Given the description of an element on the screen output the (x, y) to click on. 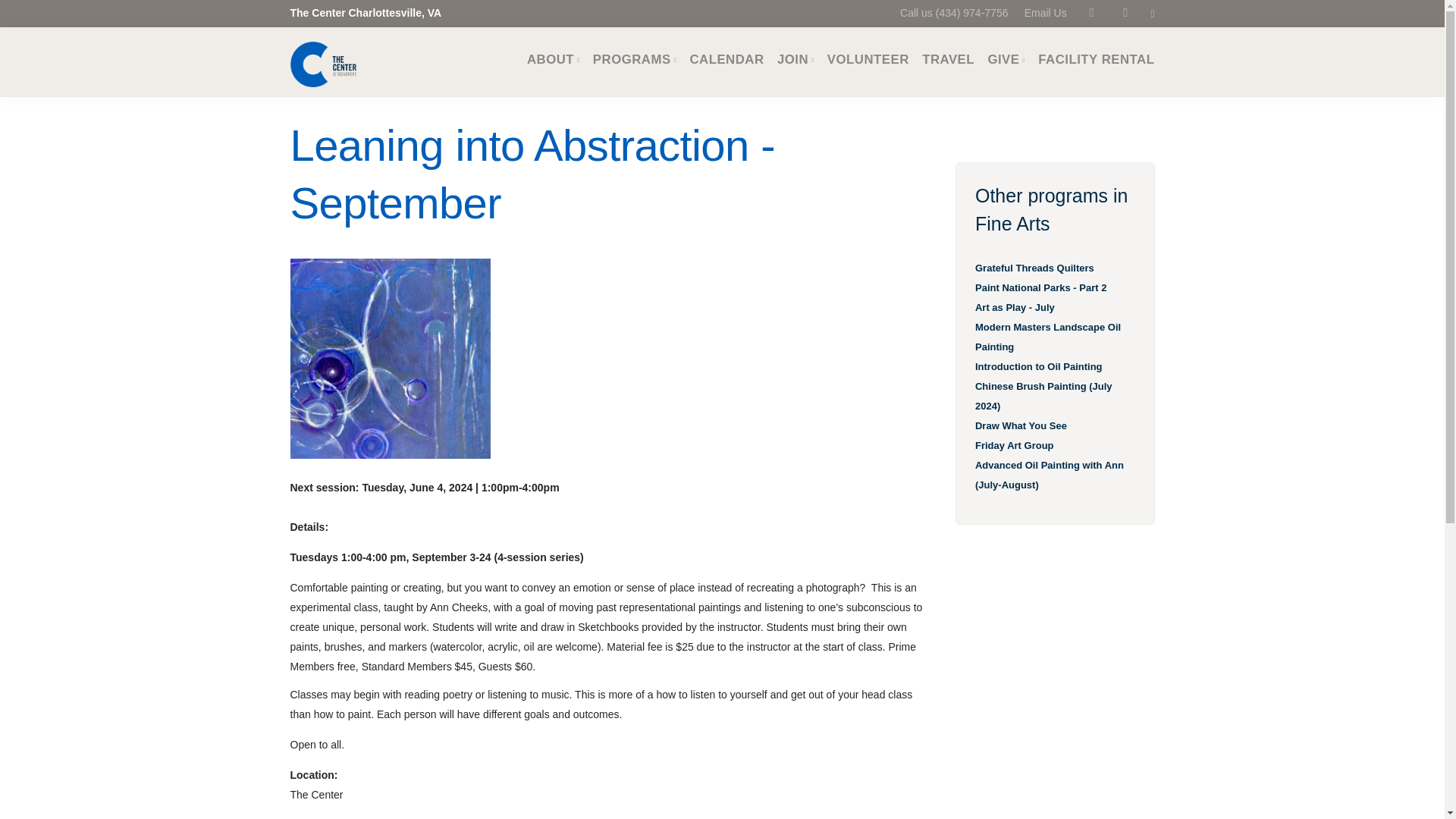
Modern Masters Landscape Oil Painting (1048, 336)
CALENDAR (725, 59)
VOLUNTEER (867, 59)
Friday Art Group (1014, 445)
Draw What You See (1021, 425)
Grateful Threads Quilters (1034, 267)
Introduction to Oil Painting (1038, 366)
Email Us (1046, 2)
Paint National Parks - Part 2 (1040, 287)
Art as Play - July (1014, 307)
TRAVEL (947, 59)
